Given the description of an element on the screen output the (x, y) to click on. 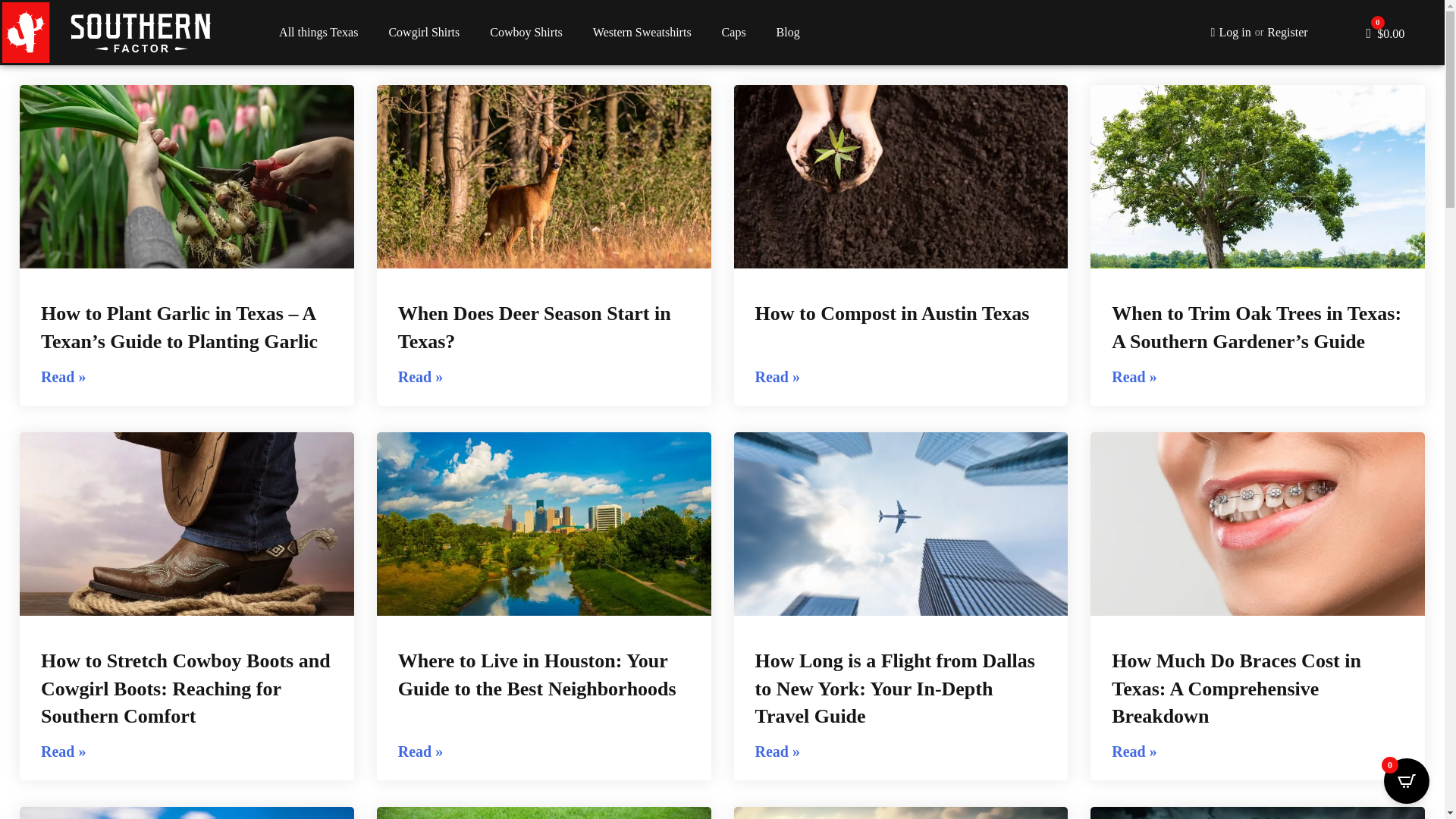
Register (1286, 33)
Cowgirl Shirts (423, 32)
When Does Deer Season Start in Texas? (534, 327)
Blog (788, 32)
Cowboy Shirts (526, 32)
Western Sweatshirts (642, 32)
Caps (733, 32)
All things Texas (317, 32)
Log in (1230, 33)
